Given the description of an element on the screen output the (x, y) to click on. 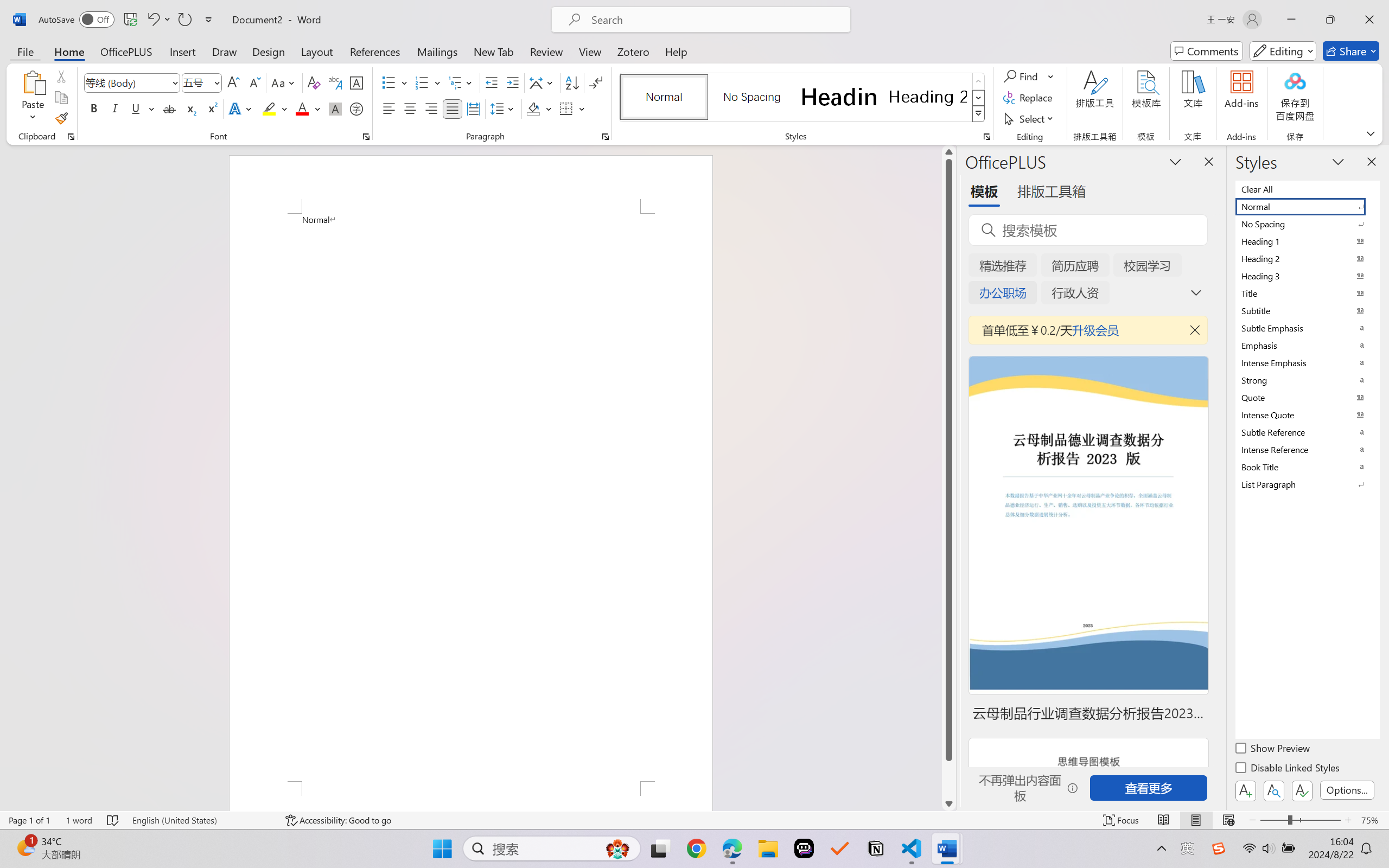
Decrease Indent (491, 82)
Shrink Font (253, 82)
Language English (United States) (201, 819)
Ribbon Display Options (1370, 132)
Page down (948, 778)
Row Down (978, 97)
Format Painter (60, 118)
Font Color Red (302, 108)
Intense Reference (1306, 449)
Disable Linked Styles (1287, 769)
Character Shading (334, 108)
Task Pane Options (1175, 161)
Cut (60, 75)
